Given the description of an element on the screen output the (x, y) to click on. 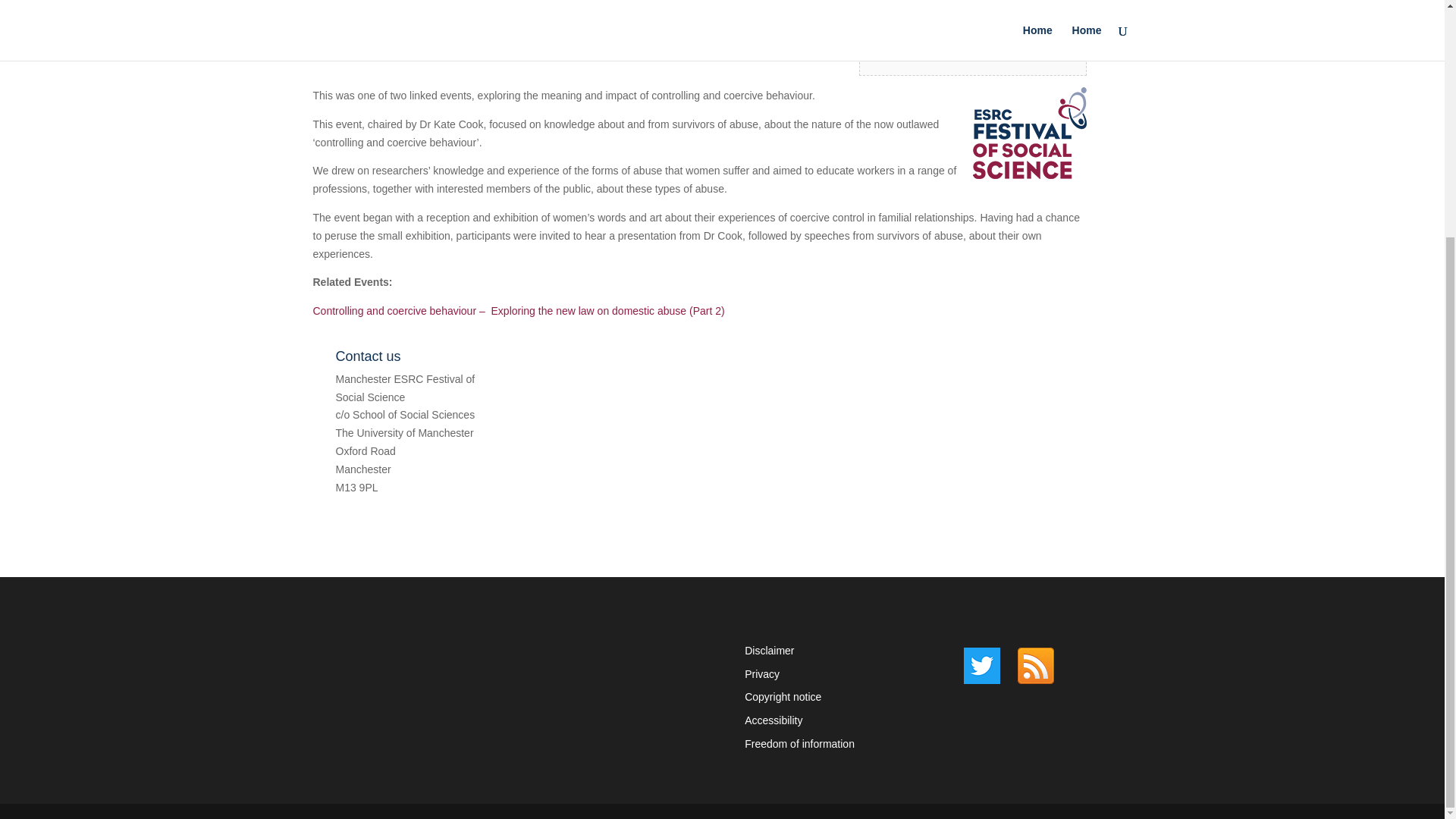
Freedom of information (799, 743)
Link to our RSS events feed (1035, 665)
Copyright notice (782, 696)
Disclaimer (768, 650)
www.esrcfestival.ac.uk (388, 522)
Privacy (761, 674)
Accessibility (773, 720)
